Given the description of an element on the screen output the (x, y) to click on. 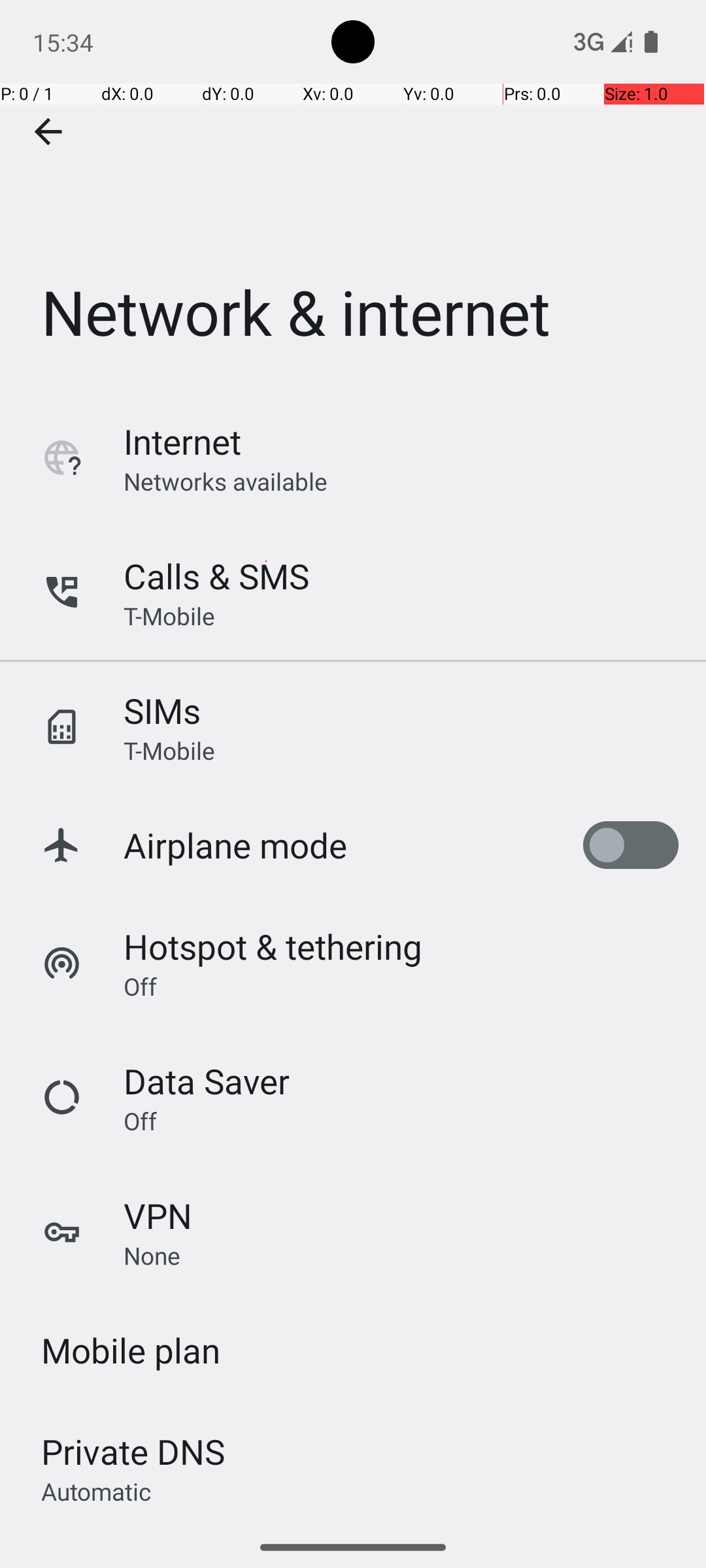
Internet Element type: android.widget.TextView (182, 441)
Networks available Element type: android.widget.TextView (225, 480)
Calls & SMS Element type: android.widget.TextView (216, 575)
SIMs Element type: android.widget.TextView (161, 710)
Airplane mode Element type: android.widget.TextView (235, 844)
Hotspot & tethering Element type: android.widget.TextView (272, 946)
Data Saver Element type: android.widget.TextView (206, 1080)
VPN Element type: android.widget.TextView (157, 1215)
Mobile plan Element type: android.widget.TextView (130, 1349)
Private DNS Element type: android.widget.TextView (132, 1451)
Automatic Element type: android.widget.TextView (96, 1490)
